Given the description of an element on the screen output the (x, y) to click on. 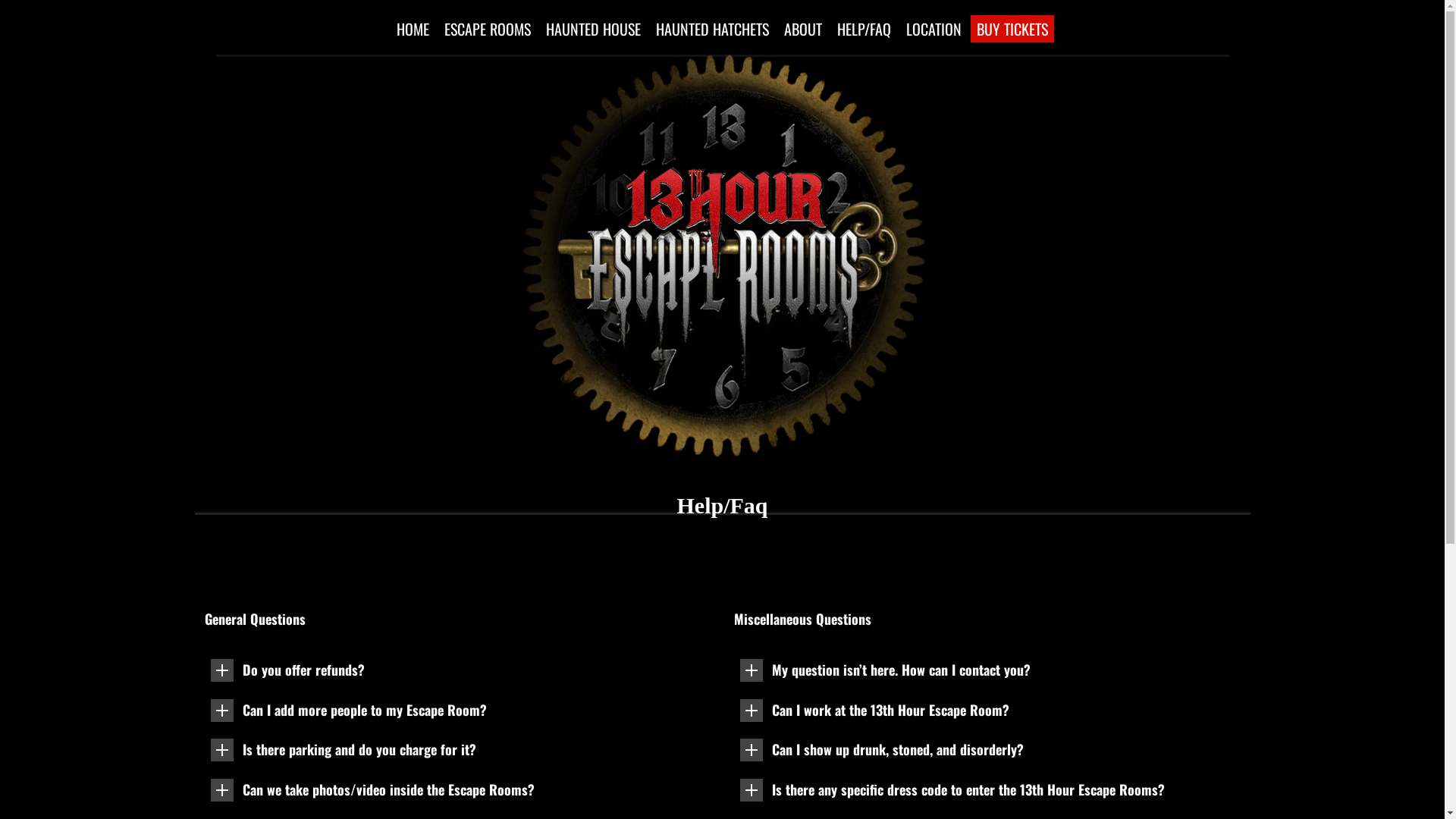
HOME Element type: text (412, 28)
BUY TICKETS Element type: text (1012, 28)
HAUNTED HOUSE Element type: text (592, 28)
HELP/FAQ Element type: text (864, 28)
LOCATION Element type: text (933, 28)
HAUNTED HATCHETS Element type: text (712, 28)
13th Hour Escape Room Element type: hover (721, 178)
ABOUT Element type: text (803, 28)
ESCAPE ROOMS Element type: text (487, 28)
